Given the description of an element on the screen output the (x, y) to click on. 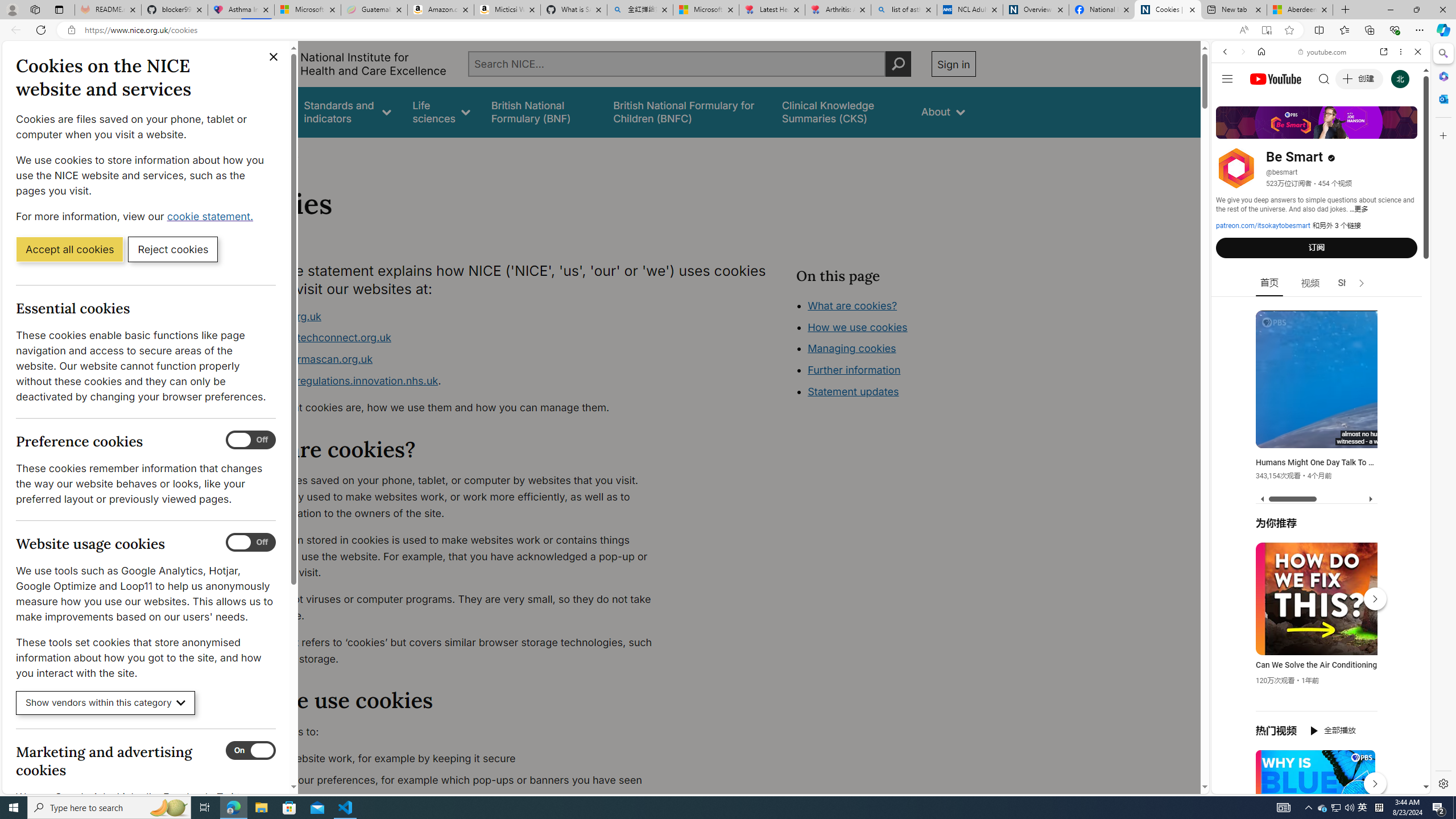
About (283, 152)
Actions for this site (1371, 661)
Google (1320, 281)
How we use cookies (857, 327)
Guidance (260, 111)
Search the web (1326, 78)
www.digitalregulations.innovation.nhs.uk (338, 380)
Close cookie banner (273, 56)
